Given the description of an element on the screen output the (x, y) to click on. 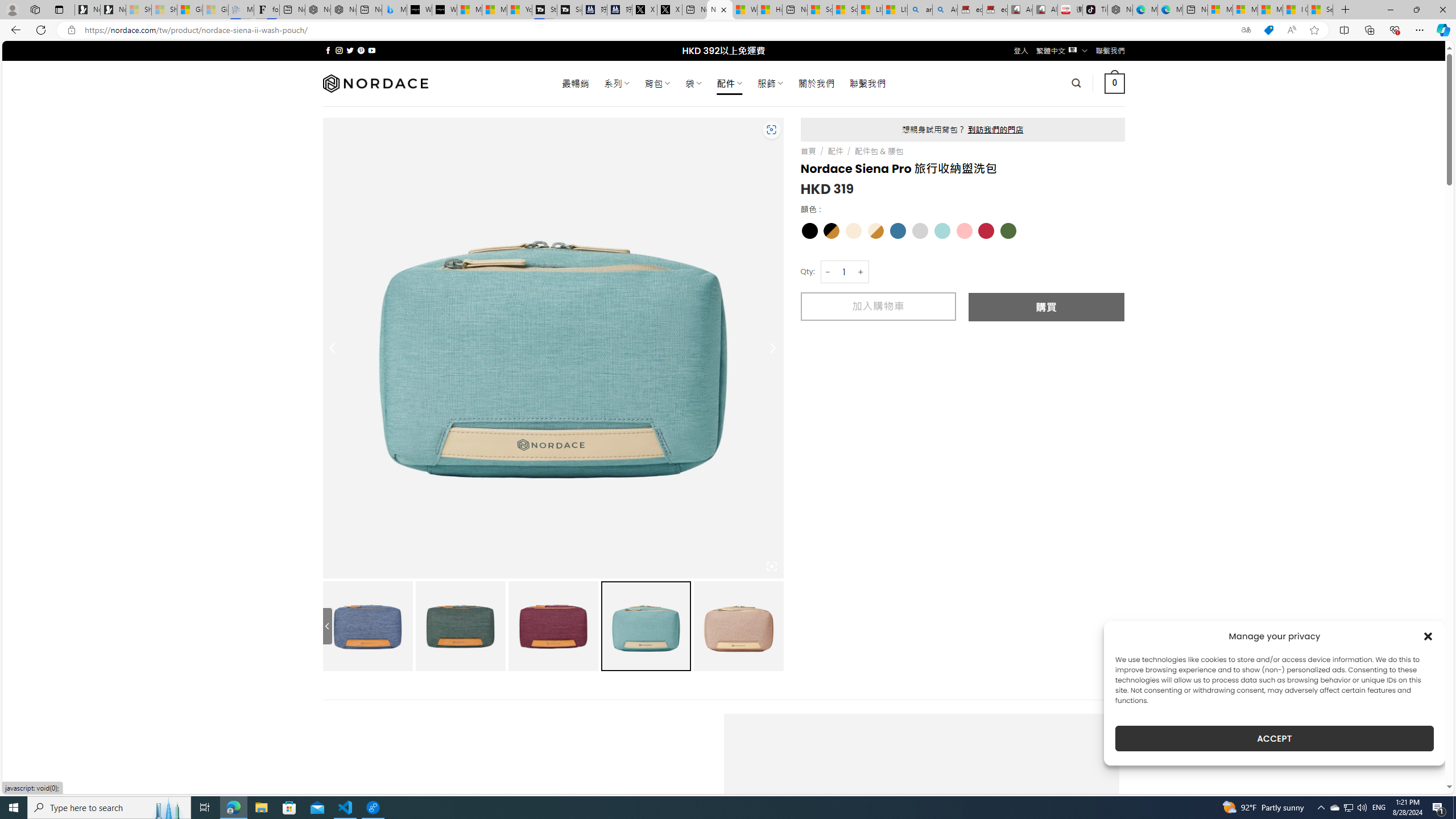
Address and search bar (658, 29)
Wildlife - MSN (744, 9)
Nordace (374, 83)
Personal Profile (12, 9)
Add this page to favorites (Ctrl+D) (1314, 29)
Tab actions menu (58, 9)
